Given the description of an element on the screen output the (x, y) to click on. 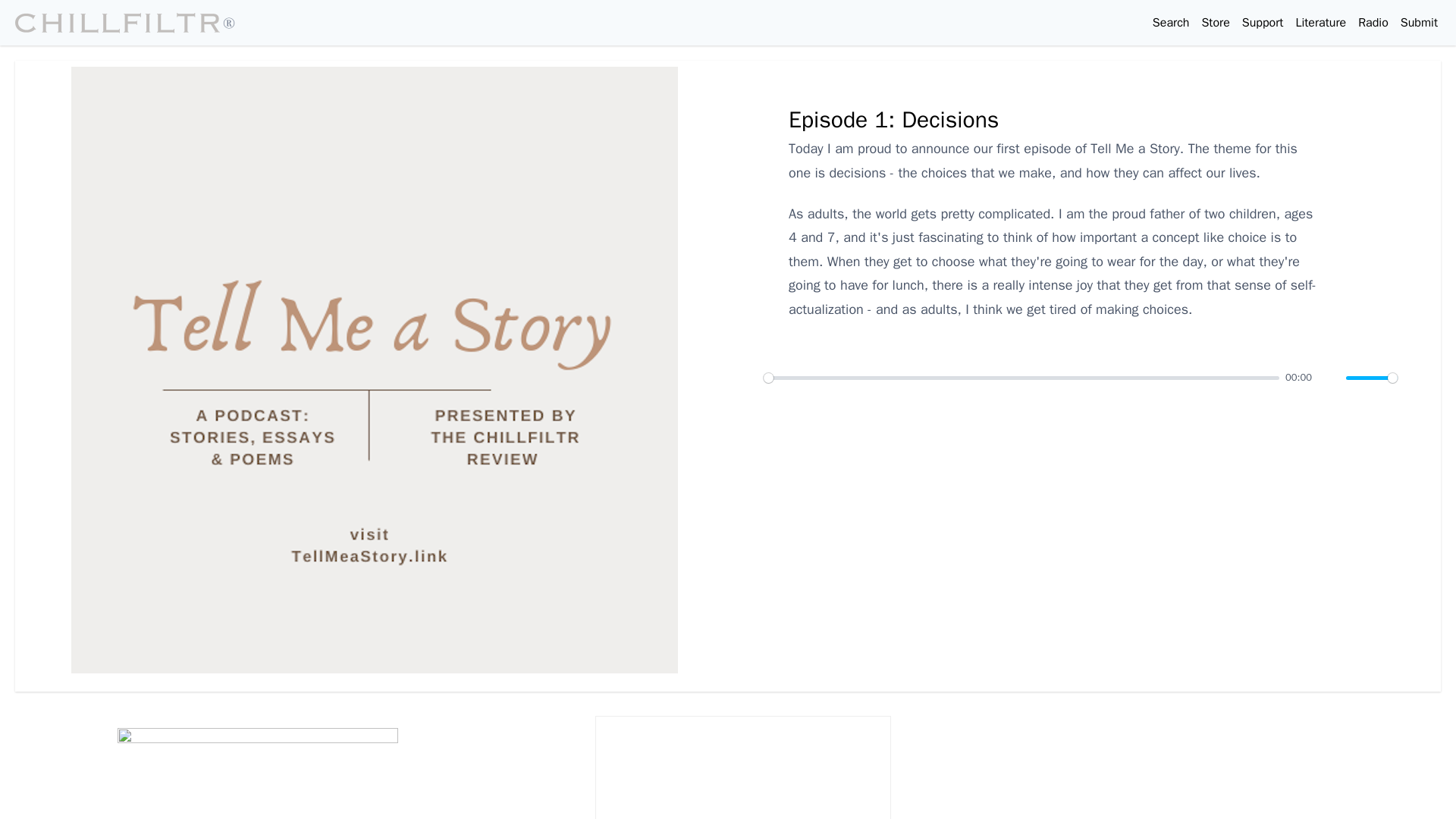
Radio (1373, 22)
home (125, 22)
1 (1370, 377)
Search (1171, 22)
Store (1214, 22)
Mute (1329, 377)
Support (1263, 22)
Episode 1: Decisions (893, 119)
Literature (1320, 22)
Play (747, 377)
Buy the thing. (1214, 22)
0 (1020, 377)
Settings (1414, 377)
